Given the description of an element on the screen output the (x, y) to click on. 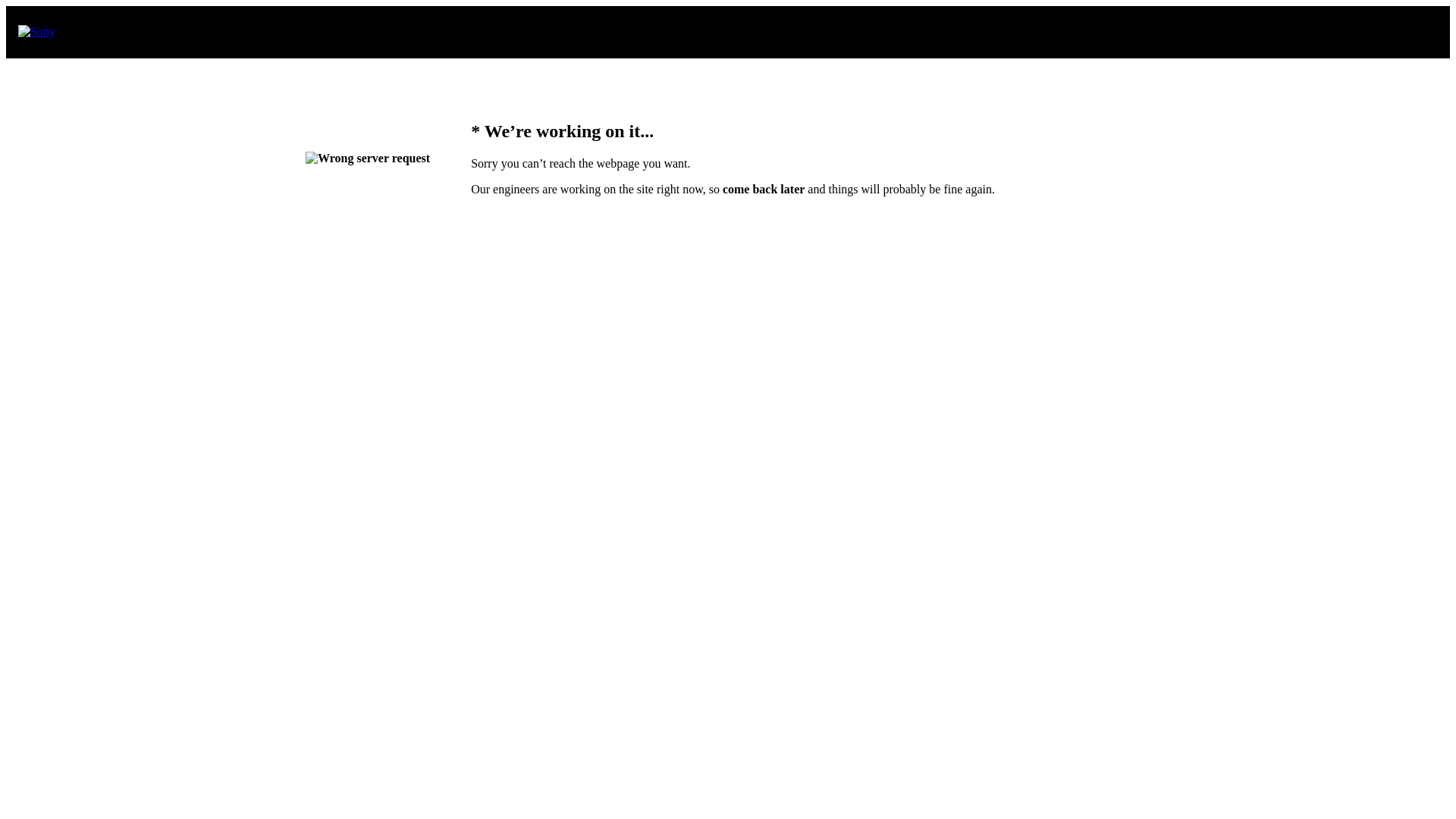
Wrong server request Element type: hover (367, 158)
